Given the description of an element on the screen output the (x, y) to click on. 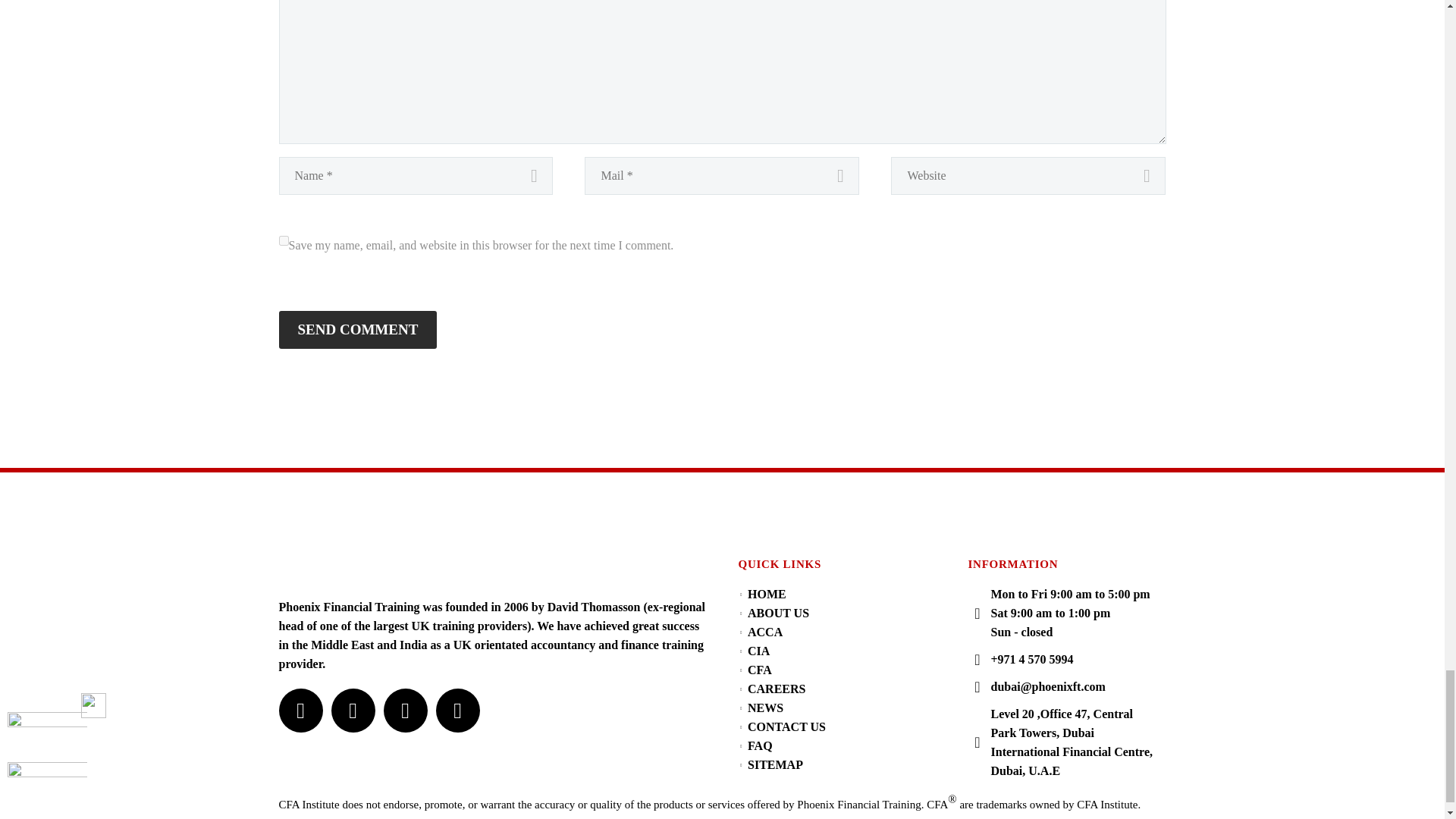
yes (283, 240)
